Given the description of an element on the screen output the (x, y) to click on. 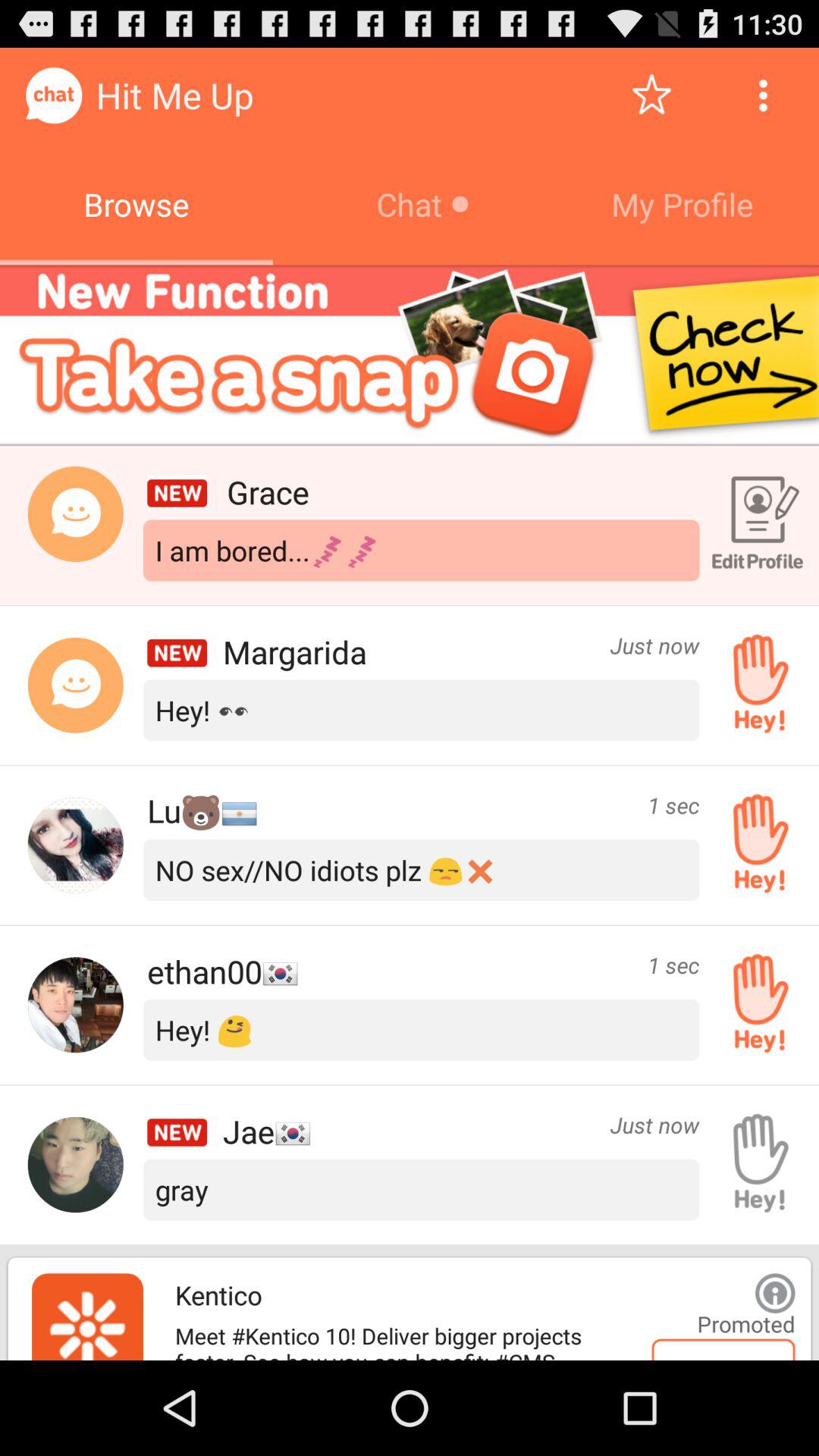
go to edit profile (755, 525)
